Given the description of an element on the screen output the (x, y) to click on. 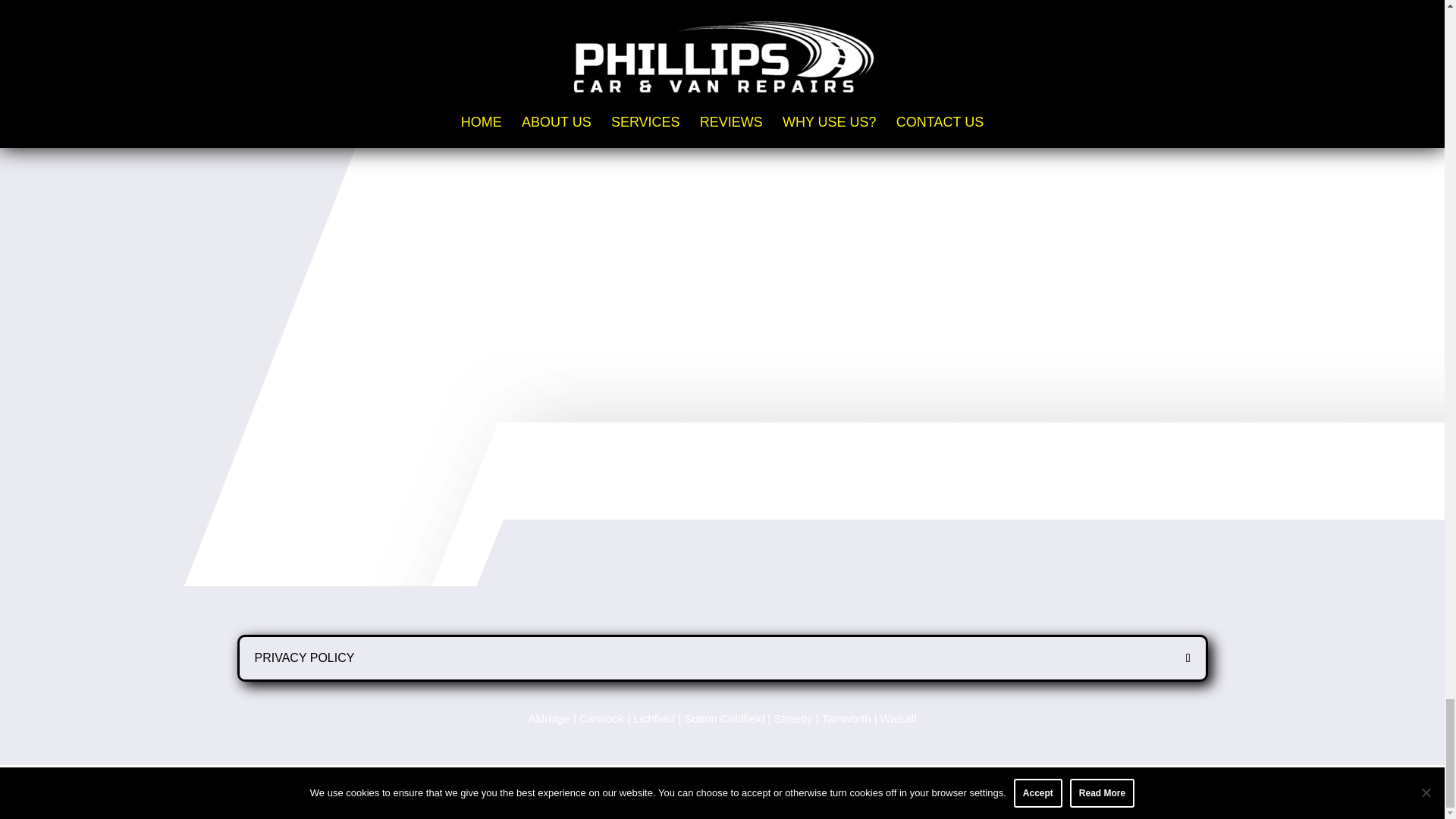
Tamworth (845, 717)
Cannock (601, 717)
Walsall (898, 717)
Streetly (793, 717)
Privacy Policy (801, 797)
Sutton Coldfield (724, 717)
Lichfield (654, 717)
Aldridge (548, 717)
Stephen Turner Web Design (686, 797)
